Given the description of an element on the screen output the (x, y) to click on. 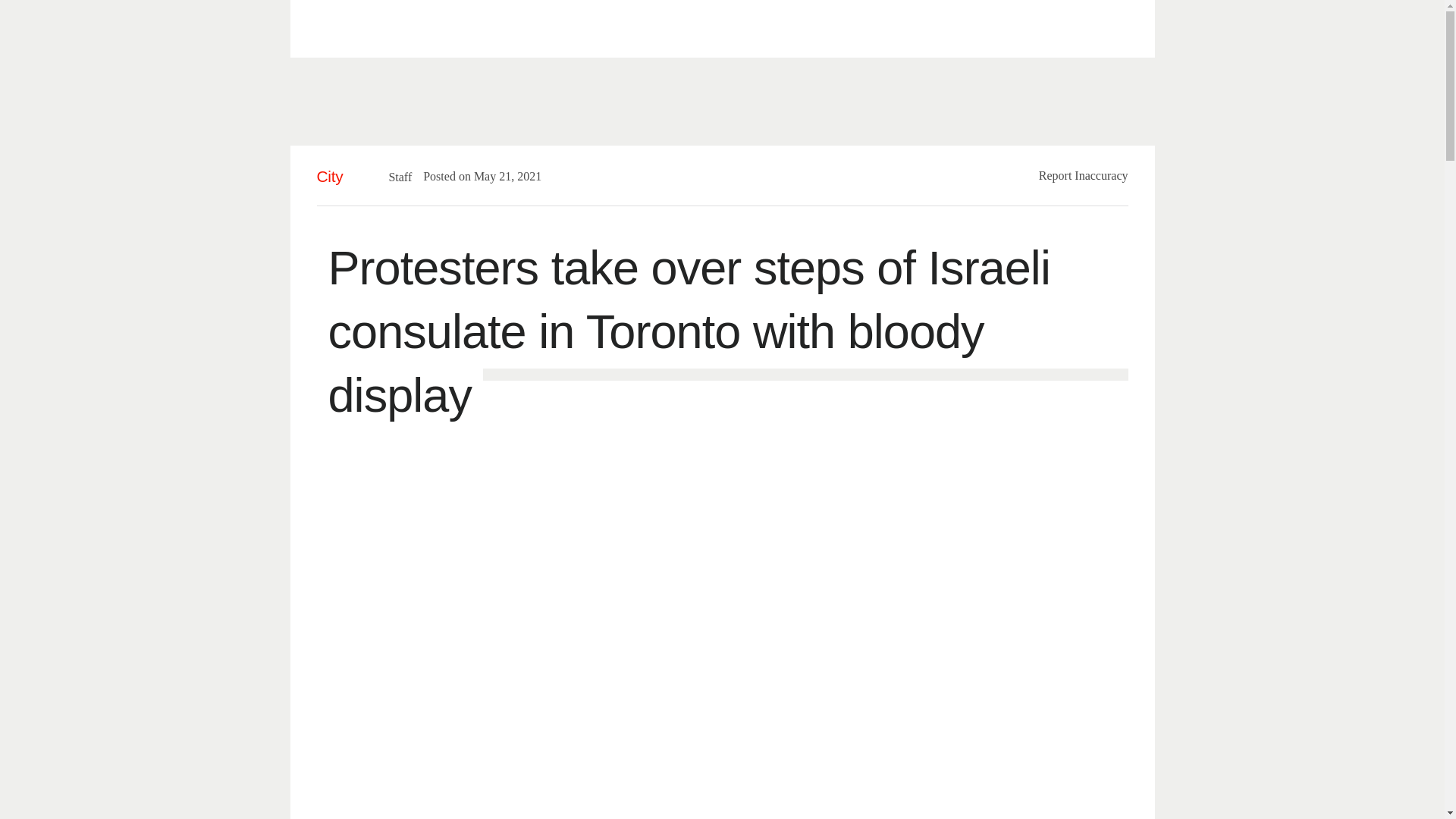
2021-05-21T15:14:38 (499, 175)
City (330, 175)
Report Inaccuracy (1083, 174)
